Given the description of an element on the screen output the (x, y) to click on. 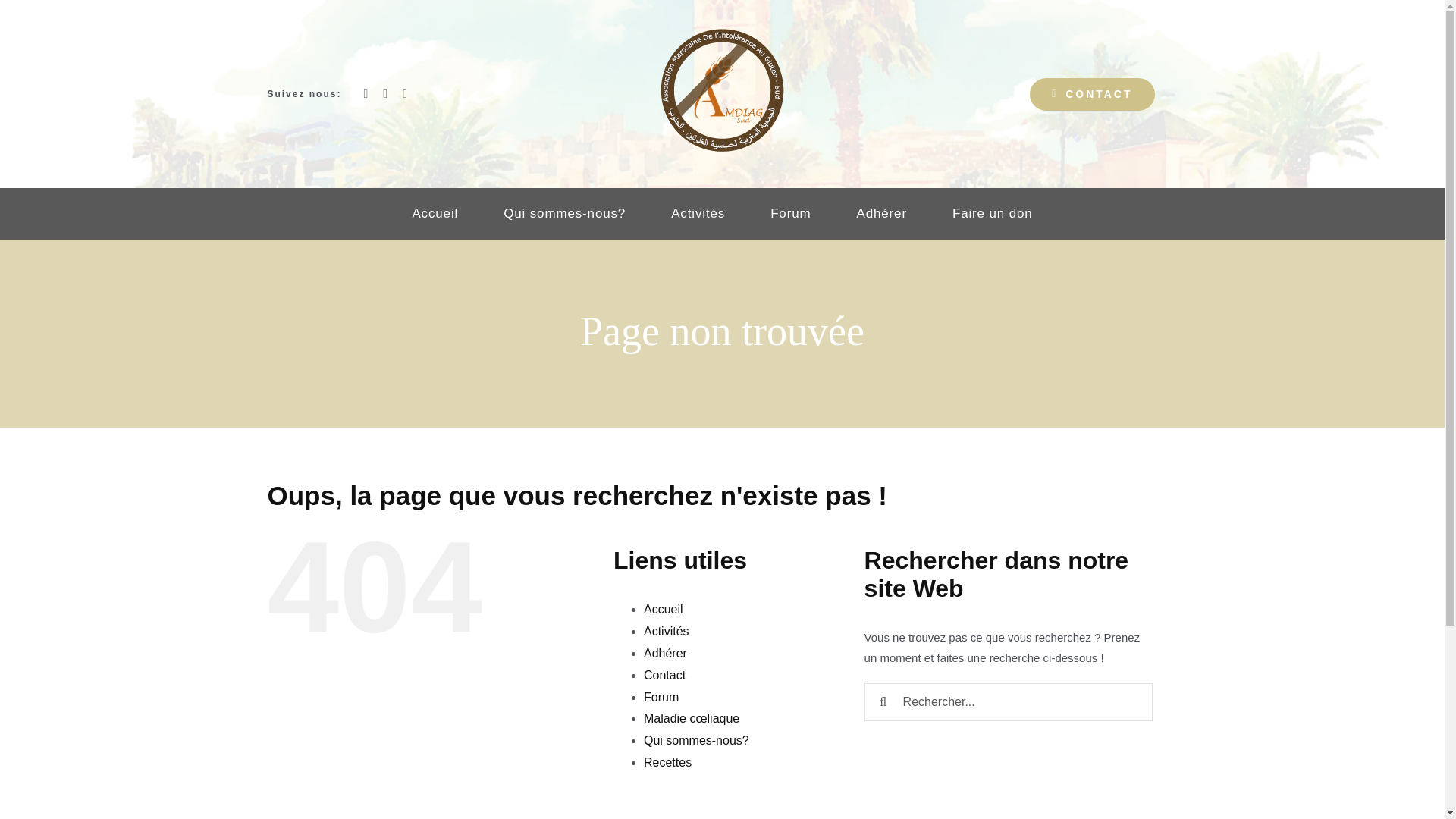
Qui sommes-nous? (696, 739)
Recettes (667, 762)
X (384, 93)
CONTACT (1091, 92)
Facebook (365, 93)
Accueil (435, 213)
Faire un don (992, 213)
Qui sommes-nous? (564, 213)
Contact (664, 675)
Accueil (662, 608)
Instagram (405, 93)
Forum (660, 697)
Forum (790, 213)
